Given the description of an element on the screen output the (x, y) to click on. 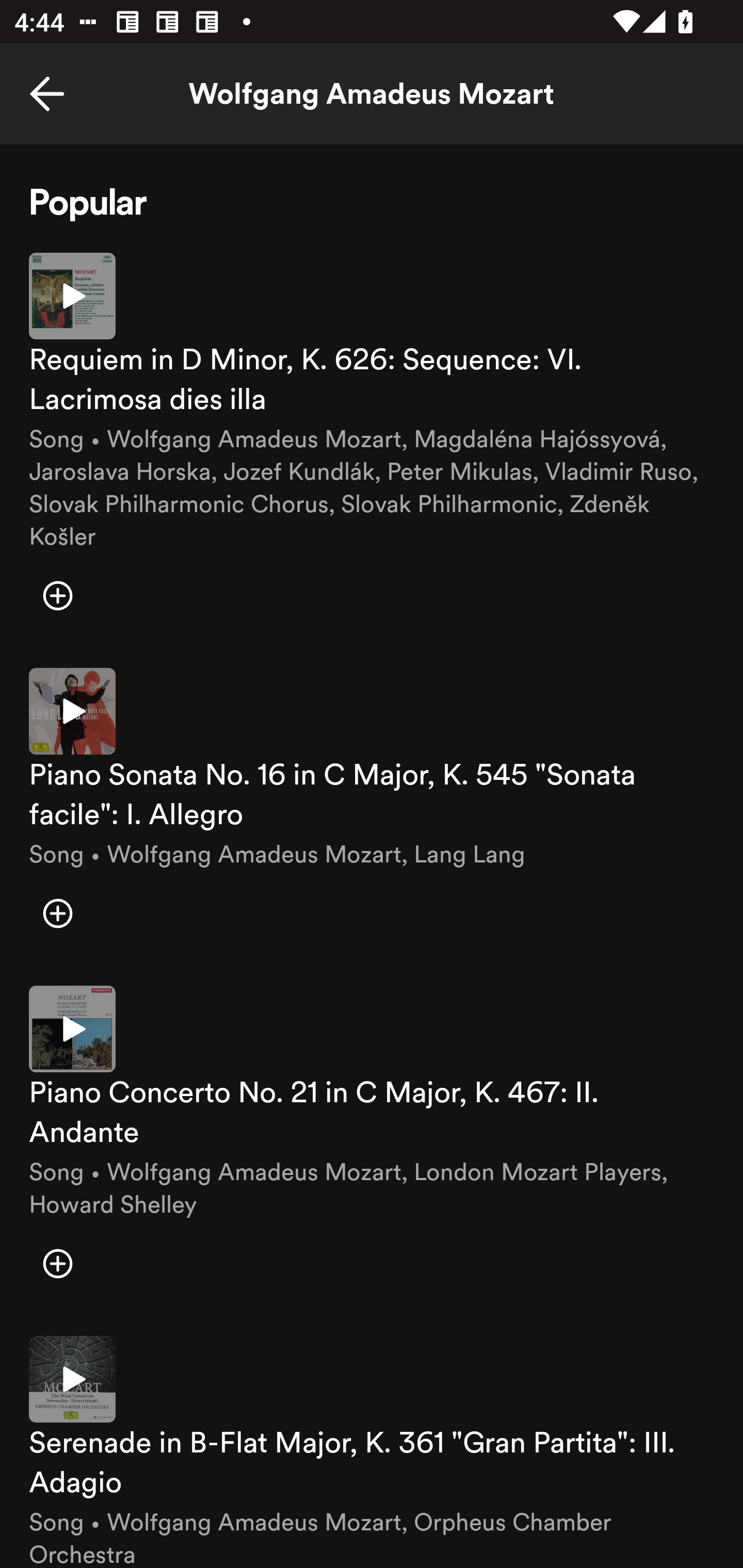
Back (46, 93)
Play preview (71, 295)
Add item (57, 595)
Play preview (71, 710)
Add item (57, 913)
Play preview (71, 1029)
Add item (57, 1263)
Play preview (71, 1378)
